Given the description of an element on the screen output the (x, y) to click on. 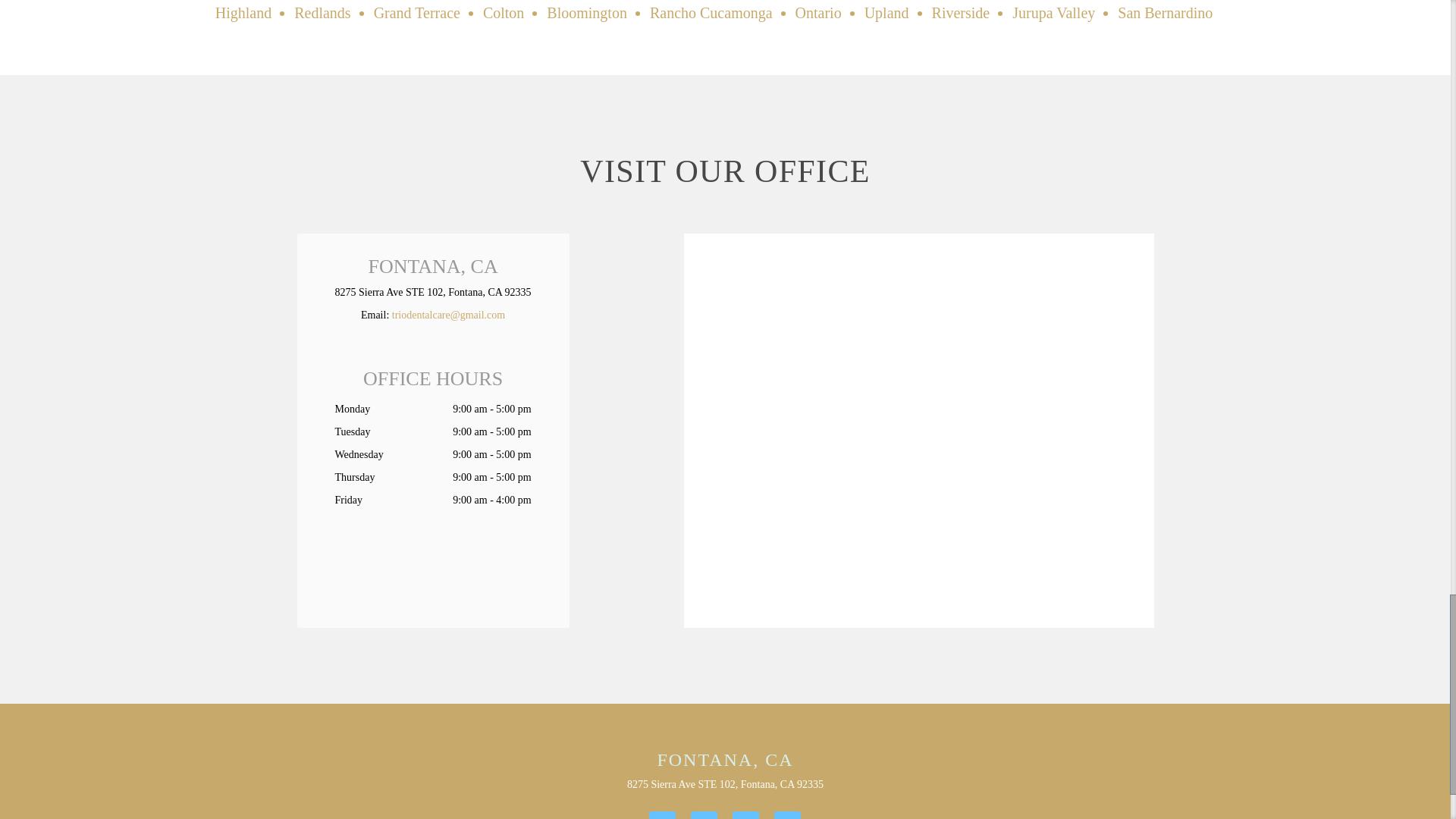
Bloomington (587, 12)
Highland (242, 12)
Rancho Cucamonga (711, 12)
Grand Terrace (417, 12)
Redlands (322, 12)
Colton (503, 12)
